Given the description of an element on the screen output the (x, y) to click on. 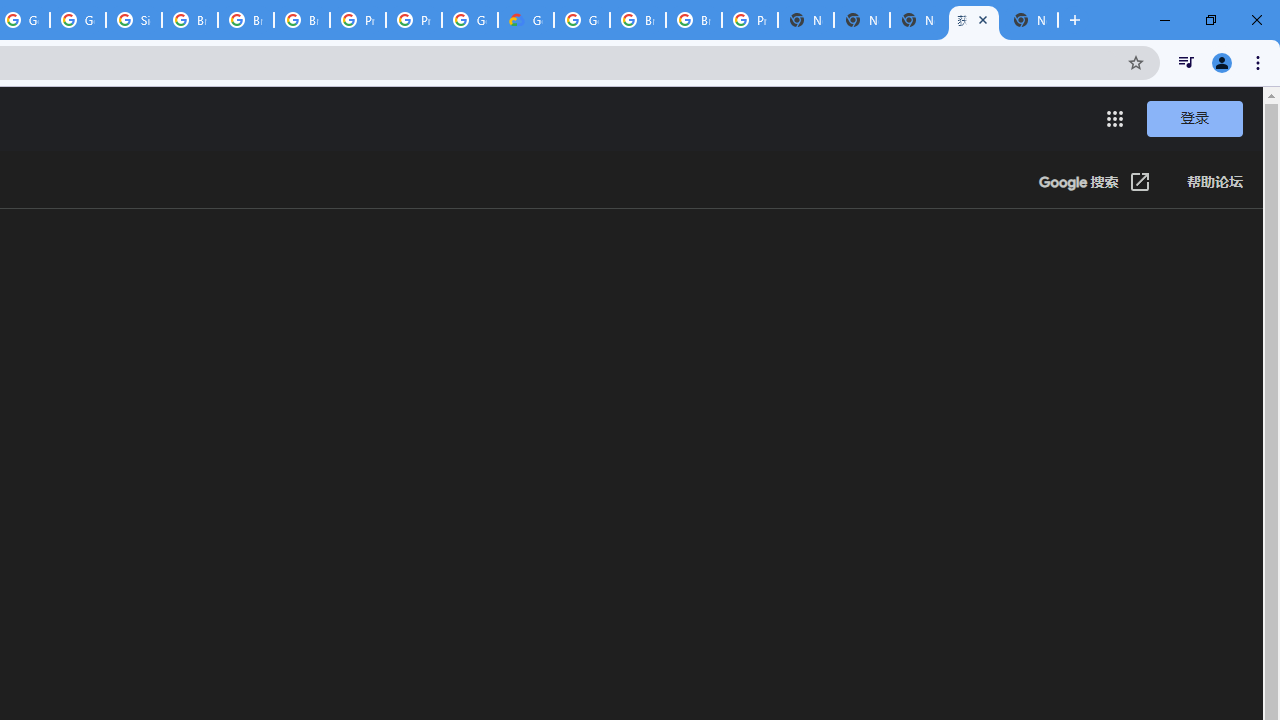
Browse Chrome as a guest - Computer - Google Chrome Help (189, 20)
Browse Chrome as a guest - Computer - Google Chrome Help (637, 20)
New Tab (806, 20)
Browse Chrome as a guest - Computer - Google Chrome Help (301, 20)
Browse Chrome as a guest - Computer - Google Chrome Help (693, 20)
